Given the description of an element on the screen output the (x, y) to click on. 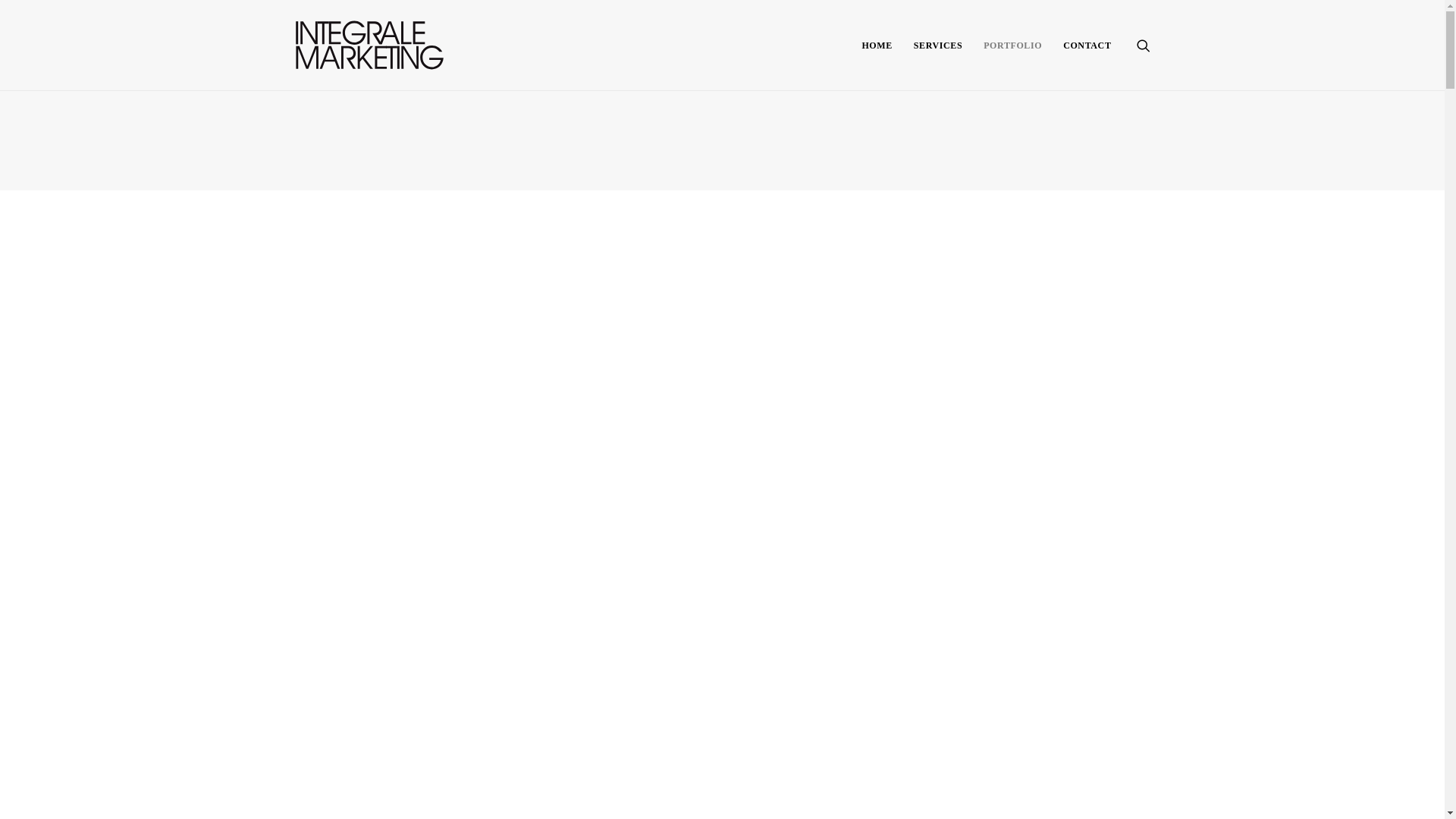
SERVICES Element type: text (937, 45)
HOME Element type: text (876, 45)
CONTACT Element type: text (1081, 45)
PORTFOLIO Element type: text (1012, 45)
